Given the description of an element on the screen output the (x, y) to click on. 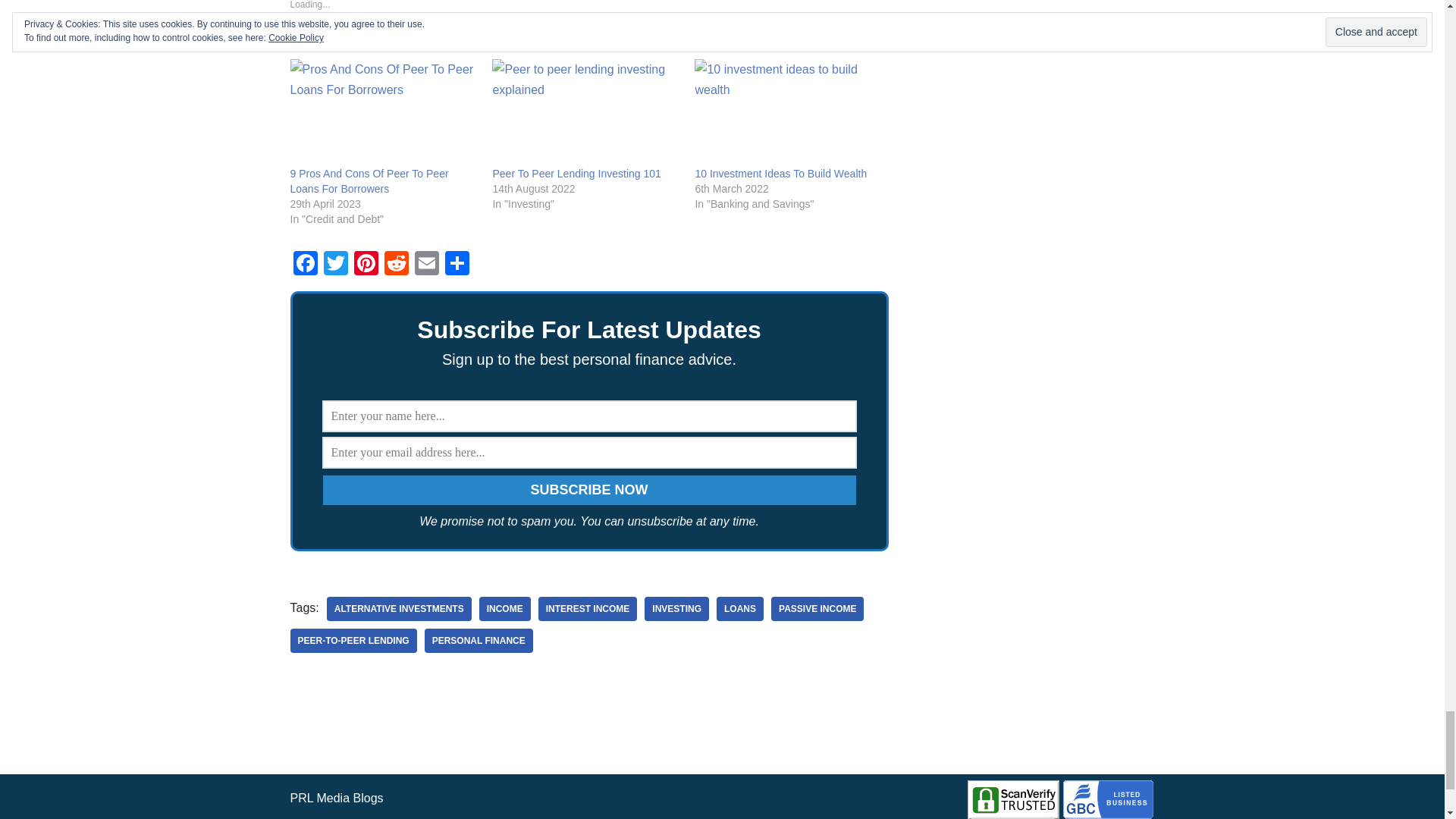
Subscribe Now (589, 490)
